Given the description of an element on the screen output the (x, y) to click on. 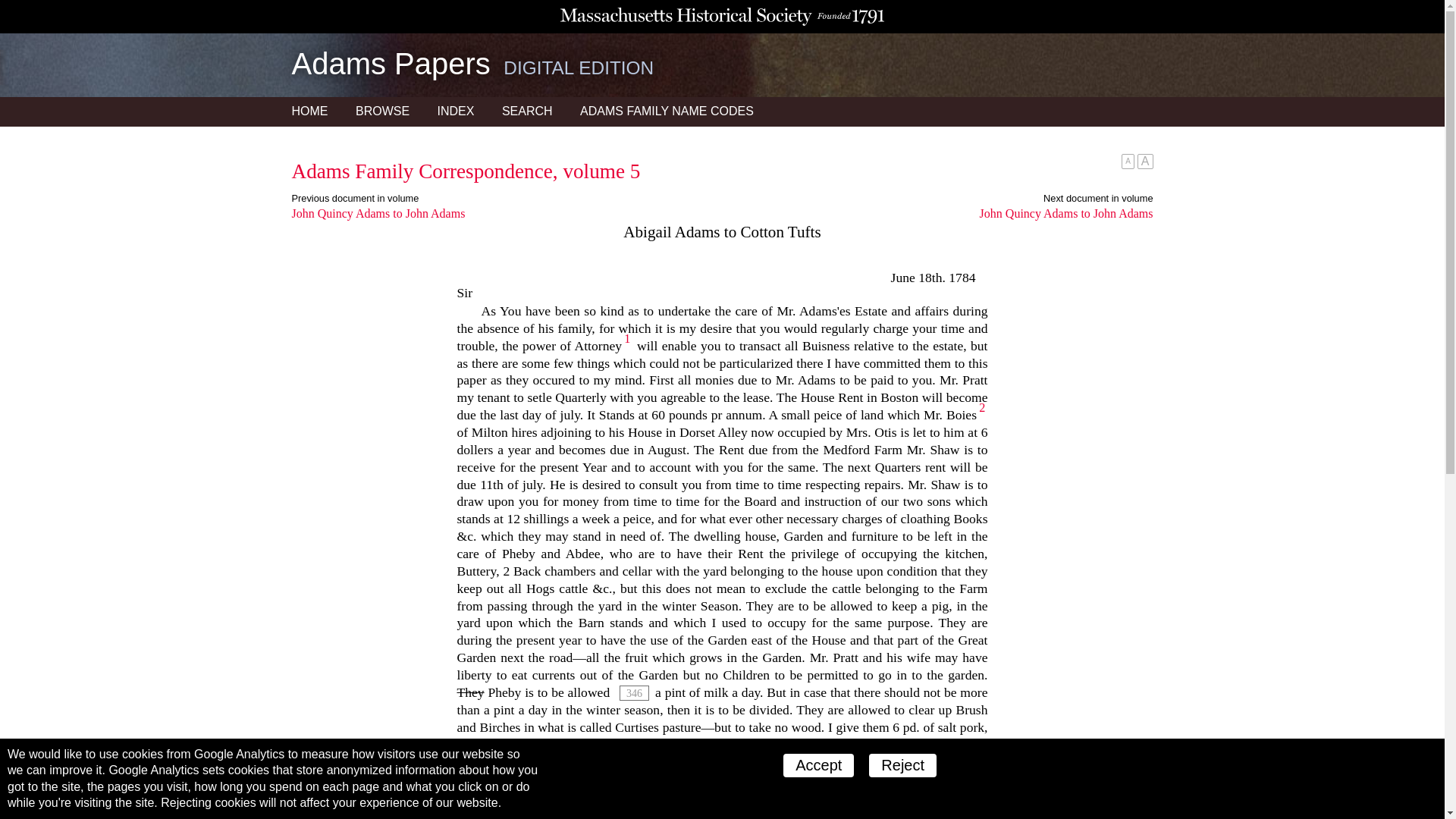
John Quincy Adams to John Adams (937, 213)
HOME (309, 111)
ADAMS FAMILY NAME CODES (666, 111)
BROWSE (381, 111)
Adams Family Correspondence, volume 5 (465, 170)
John Quincy Adams to John Adams (506, 213)
INDEX (455, 111)
SEARCH (527, 111)
